Given the description of an element on the screen output the (x, y) to click on. 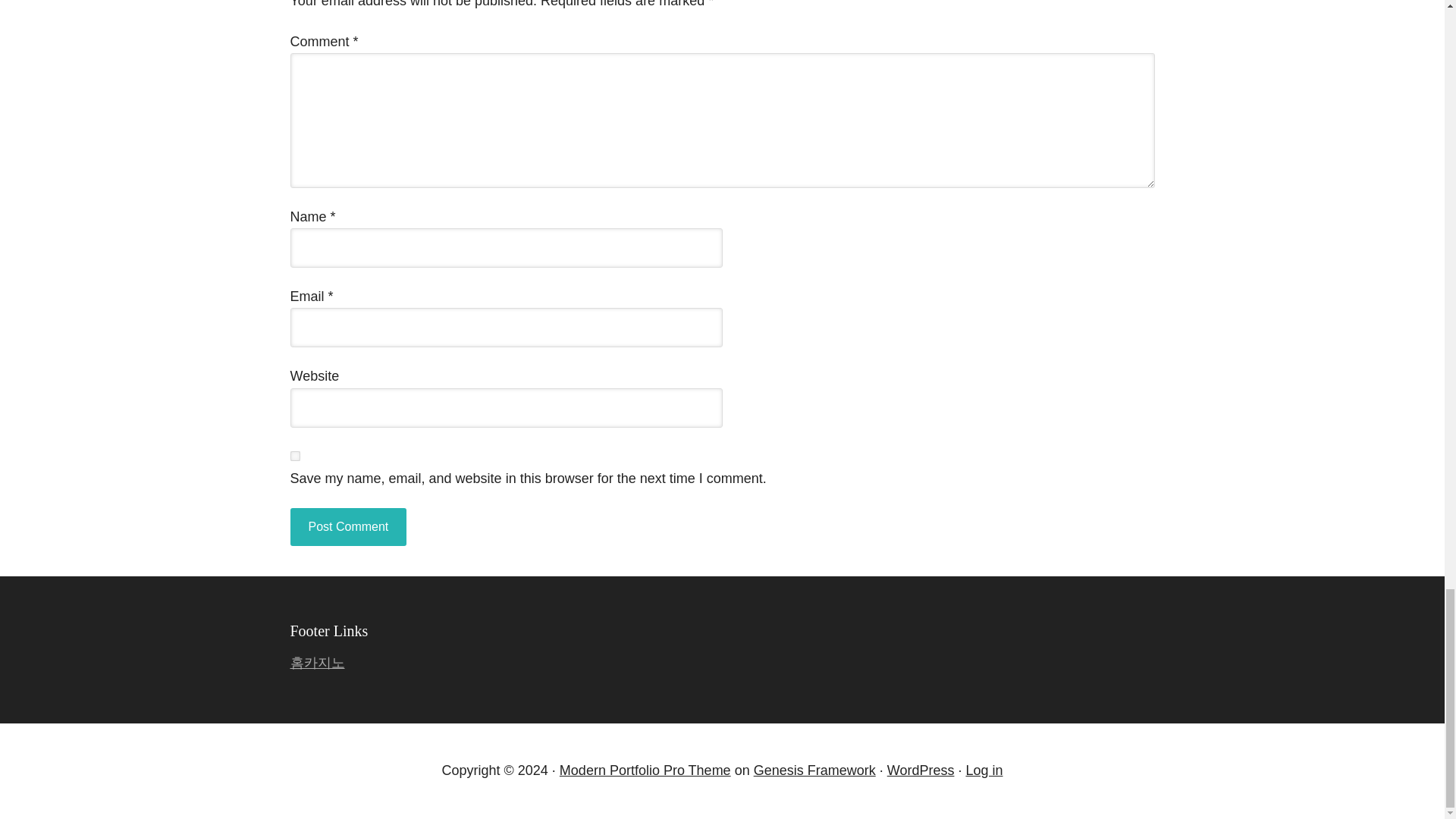
Log in (984, 770)
Modern Portfolio Pro Theme (644, 770)
WordPress (920, 770)
Genesis Framework (815, 770)
yes (294, 456)
Post Comment (347, 526)
Post Comment (347, 526)
